Given the description of an element on the screen output the (x, y) to click on. 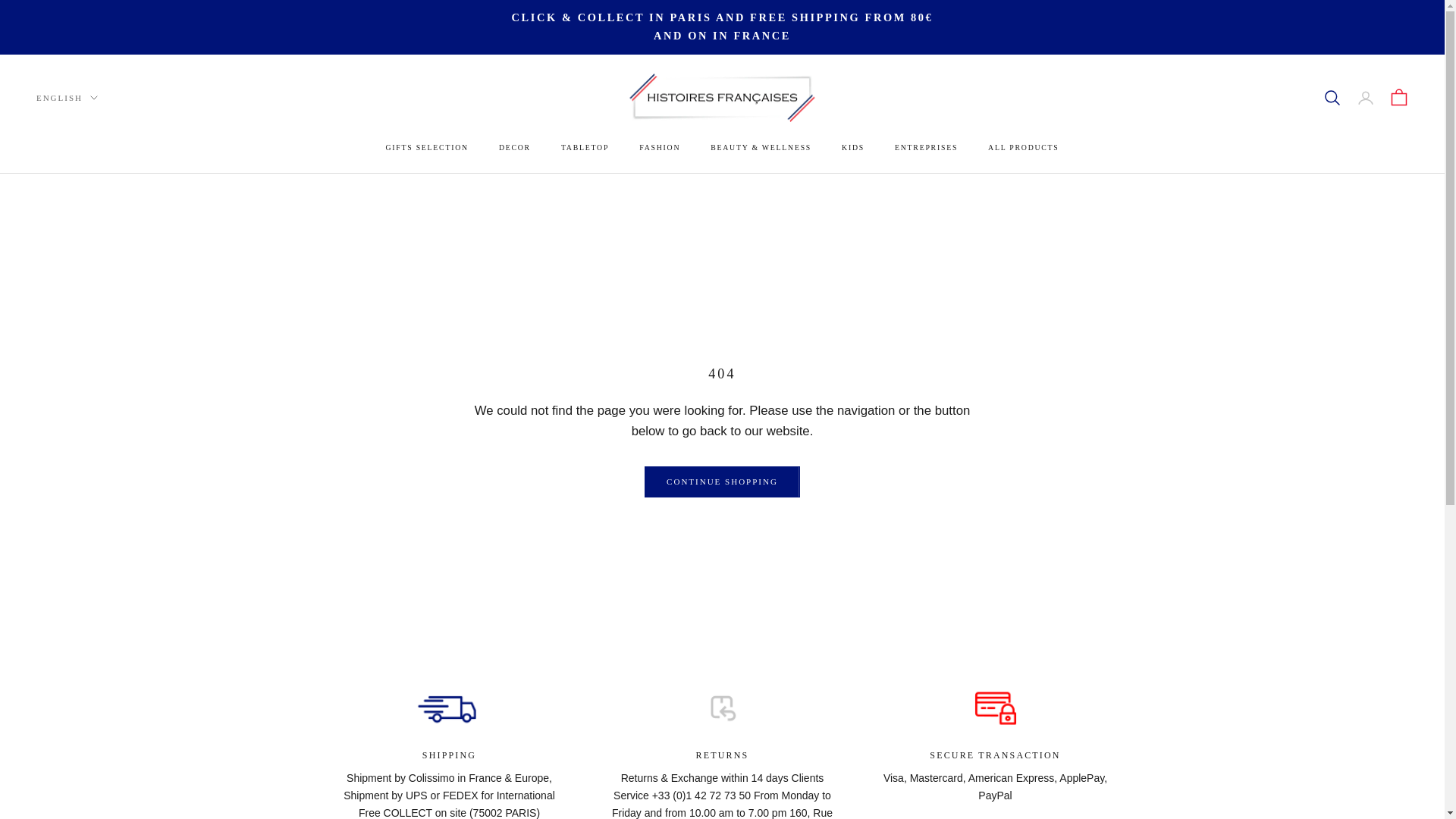
ENTREPRISES (926, 147)
ENGLISH (66, 97)
GIFTS SELECTION (426, 147)
ALL PRODUCTS (1023, 147)
Open cart (1398, 97)
Open account page (1365, 97)
Open search (1331, 97)
